Given the description of an element on the screen output the (x, y) to click on. 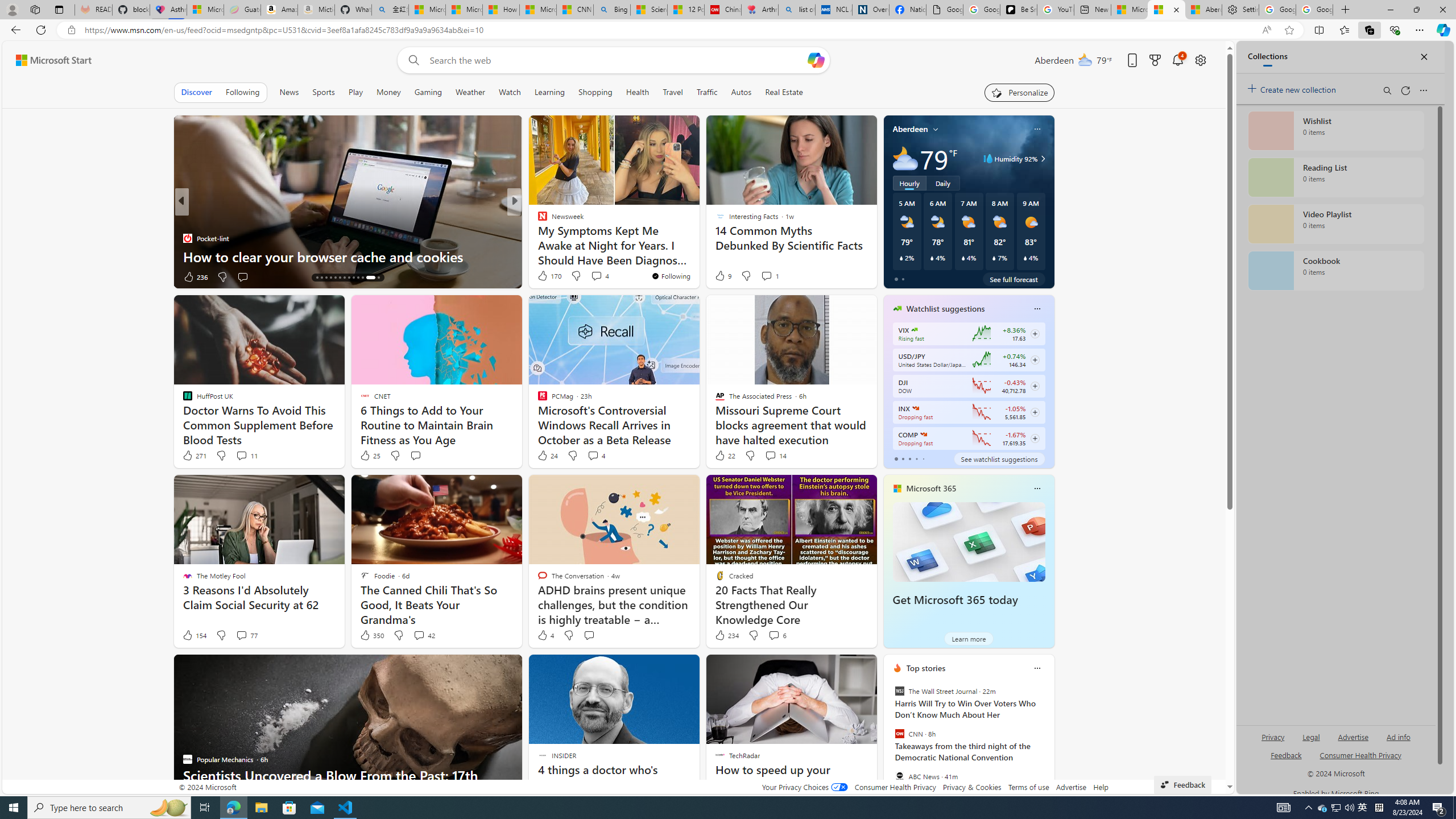
Top stories (925, 668)
Shopping (594, 92)
Personalize your feed" (1019, 92)
View comments 77 Comment (246, 634)
Advertise (1070, 786)
View comments 11 Comment (241, 455)
View comments 1 Comment (769, 275)
Traffic (706, 92)
